Given the description of an element on the screen output the (x, y) to click on. 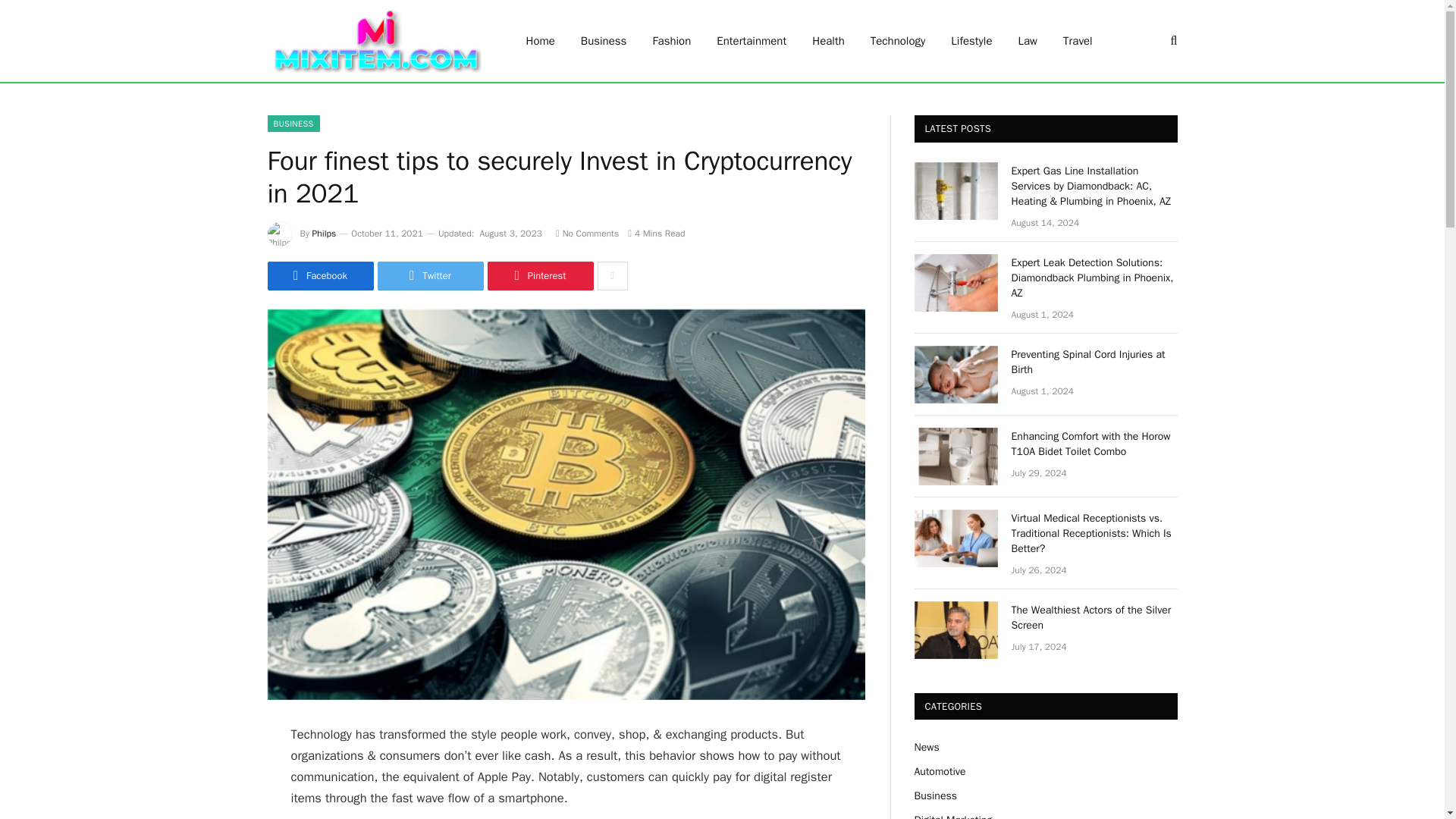
Twitter (430, 275)
No Comments (587, 233)
Share on Facebook (319, 275)
Technology (898, 40)
Entertainment (751, 40)
Share on Pinterest (539, 275)
Pinterest (539, 275)
Show More Social Sharing (611, 275)
BUSINESS (292, 123)
